Given the description of an element on the screen output the (x, y) to click on. 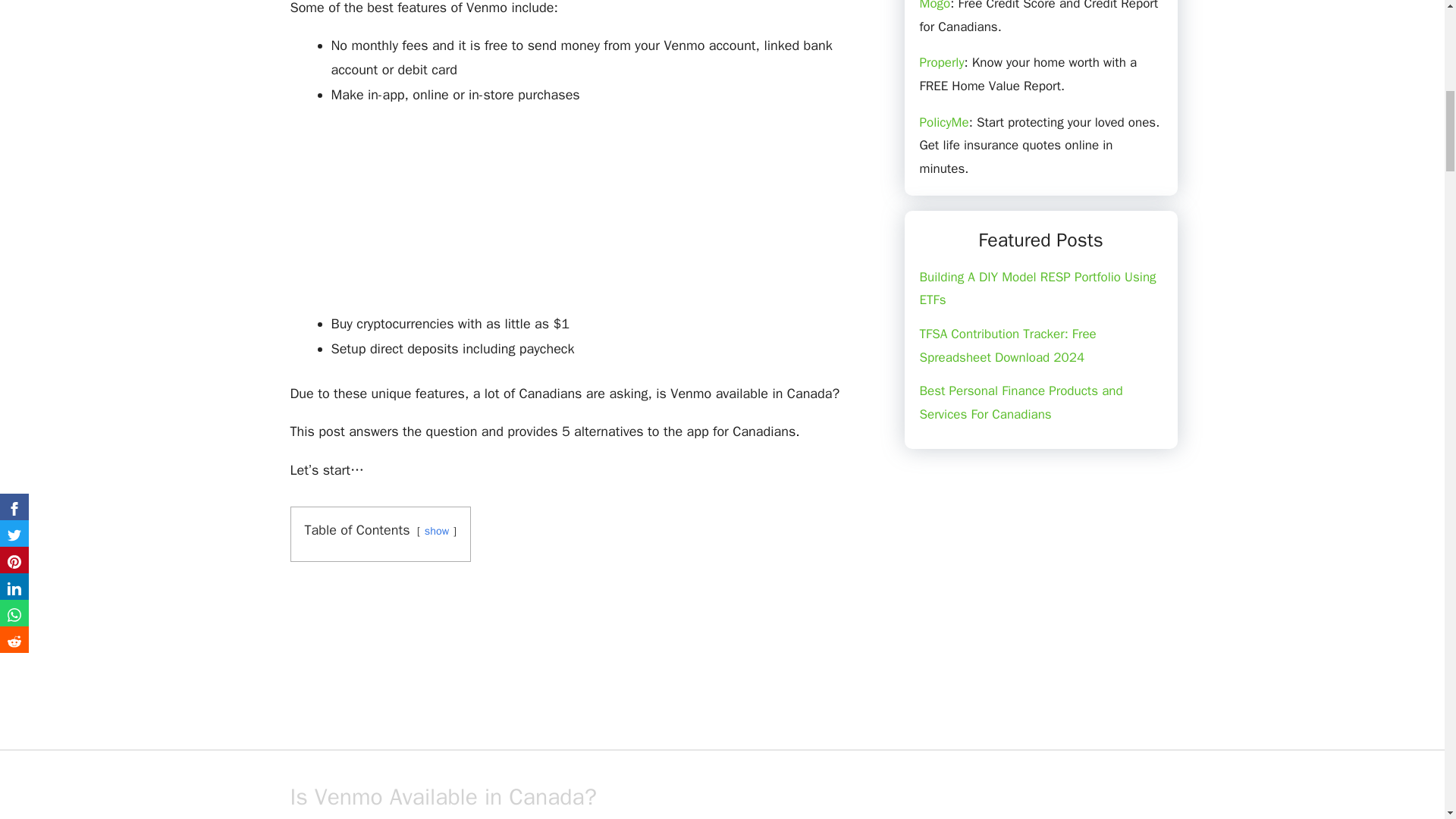
show (436, 530)
